Given the description of an element on the screen output the (x, y) to click on. 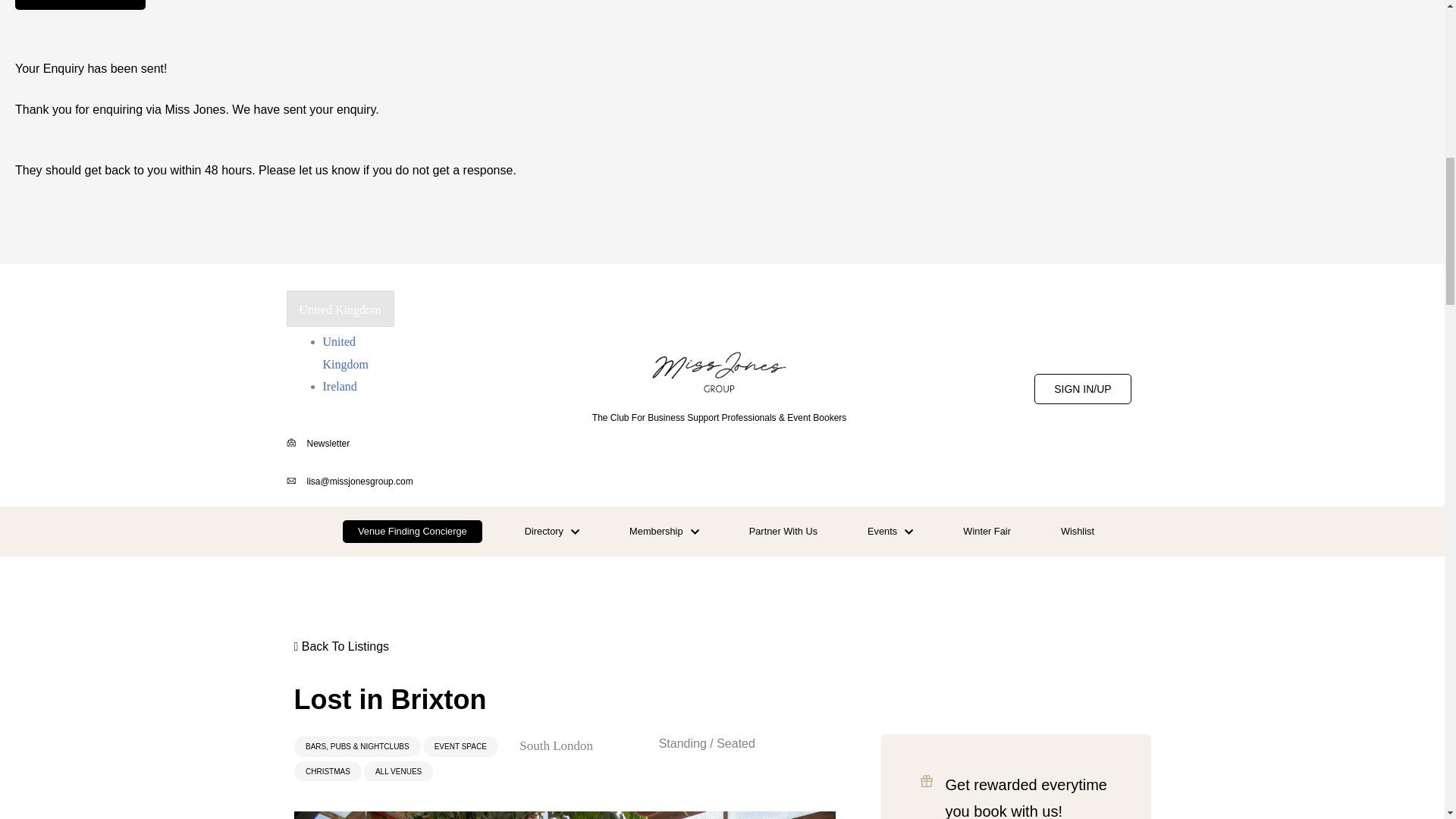
ENQUIRE NOW (79, 4)
